Given the description of an element on the screen output the (x, y) to click on. 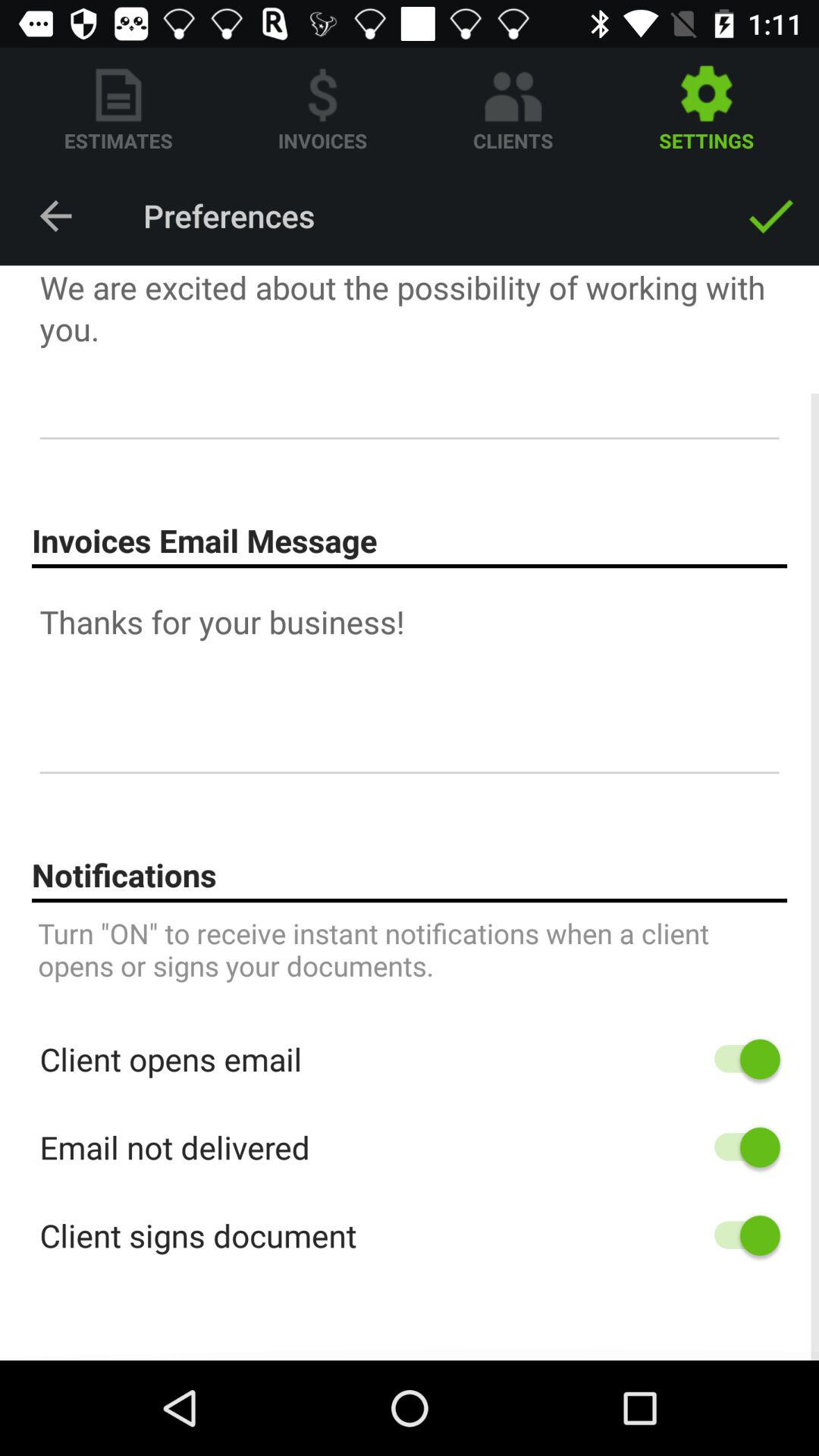
toggle notification for email not delivered (739, 1147)
